Given the description of an element on the screen output the (x, y) to click on. 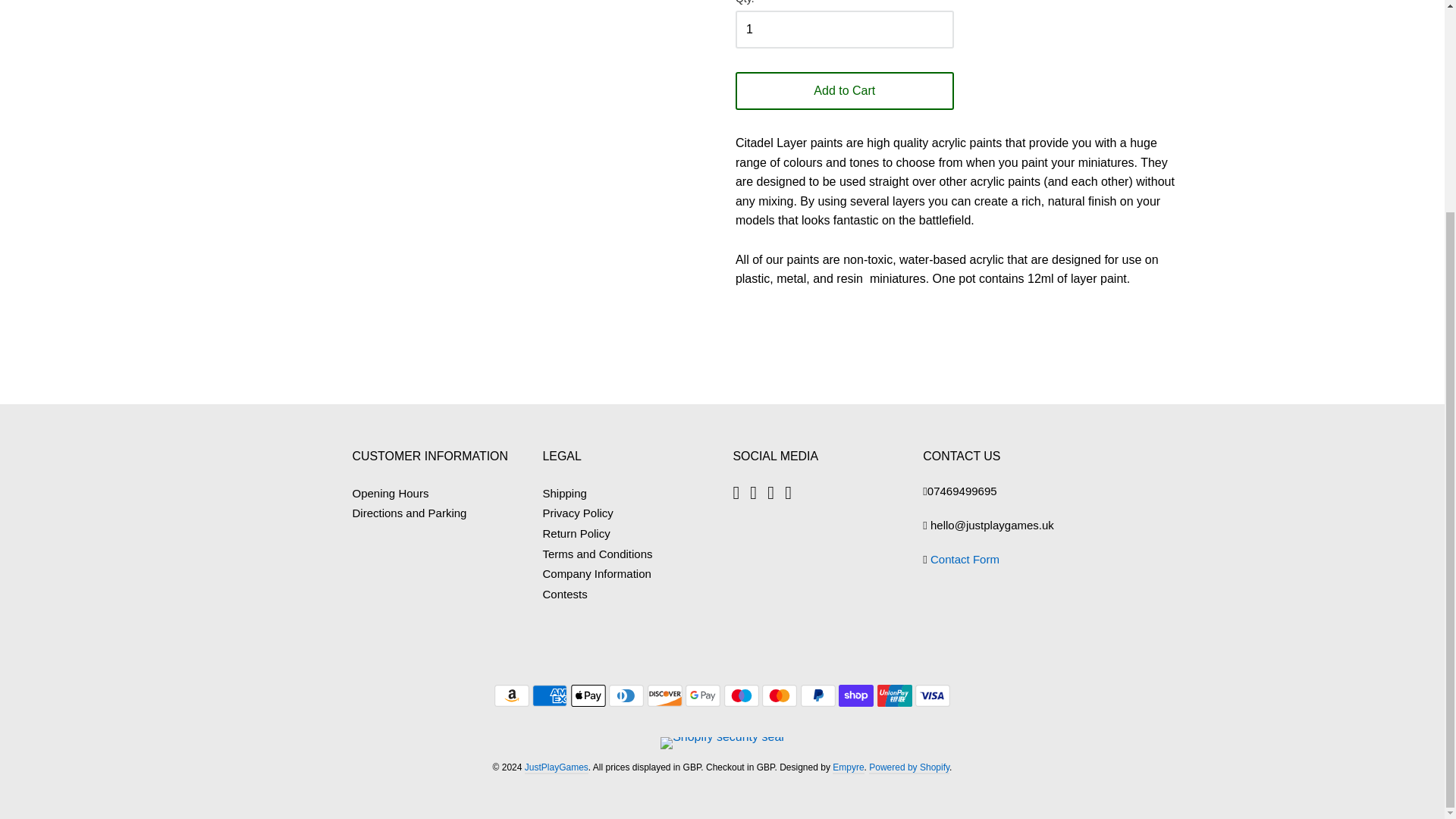
Contact Us (964, 558)
Shop Pay (855, 695)
Google Pay (702, 695)
Diners Club (625, 695)
Apple Pay (587, 695)
This online store is secured by Shopify (722, 736)
Maestro (740, 695)
Visa (932, 695)
Union Pay (894, 695)
1 (844, 29)
American Express (549, 695)
PayPal (817, 695)
Amazon (512, 695)
Discover (664, 695)
